Given the description of an element on the screen output the (x, y) to click on. 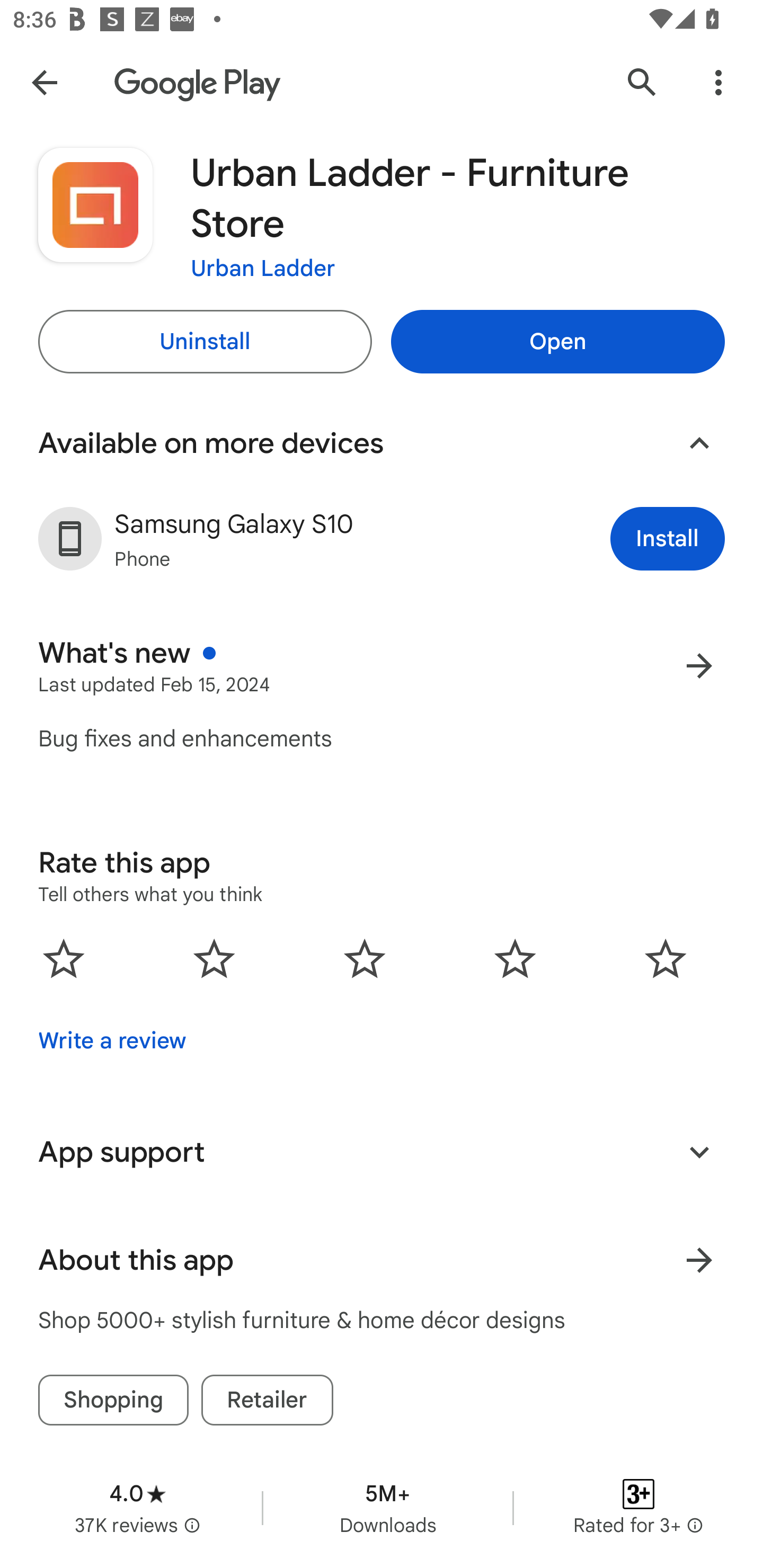
Navigate up (44, 81)
Search Google Play (642, 81)
More Options (718, 81)
Urban Ladder (262, 267)
Uninstall (205, 341)
Open (557, 341)
Available on more devices Collapse (381, 442)
Collapse (699, 442)
Install (667, 538)
More results for What's new (699, 665)
0.0 (364, 957)
Write a review (112, 1040)
App support Expand (381, 1151)
Expand (699, 1151)
About this app Learn more About this app (381, 1259)
Learn more About this app (699, 1259)
Shopping tag (113, 1399)
Retailer tag (267, 1399)
Average rating 4.0 stars in 37 thousand reviews (137, 1507)
Content rating Rated for 3+ (638, 1507)
